Given the description of an element on the screen output the (x, y) to click on. 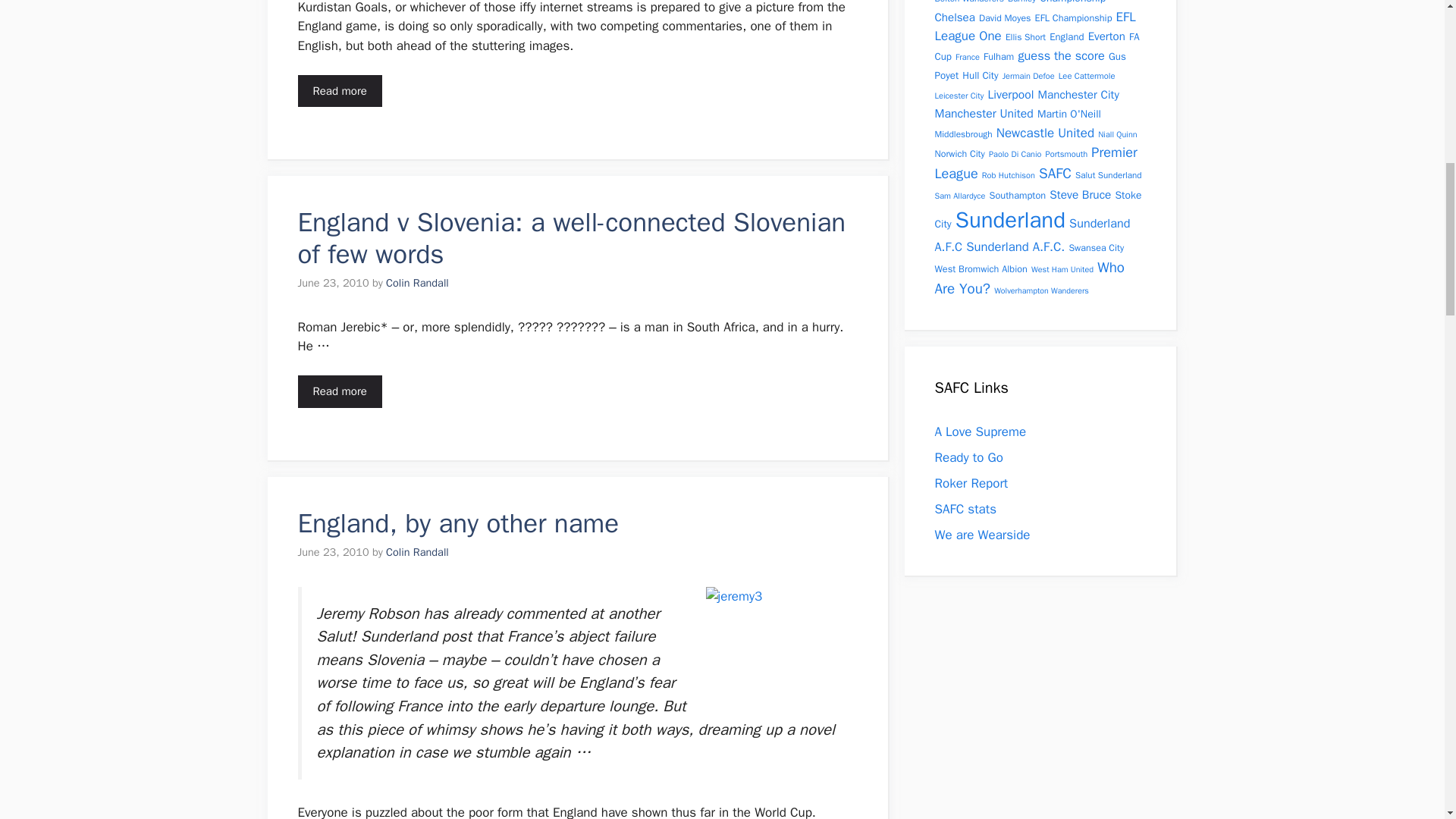
View all posts by Colin Randall (416, 551)
View all posts by Colin Randall (416, 282)
Read more (339, 391)
Colin Randall (416, 551)
jeremy3 (780, 645)
England v Slovenia: a well-connected Slovenian of few words (571, 238)
Colin Randall (416, 282)
England, by any other name (457, 522)
England v Slovenia: a well-connected Slovenian of few words (339, 391)
Read more (339, 91)
